Given the description of an element on the screen output the (x, y) to click on. 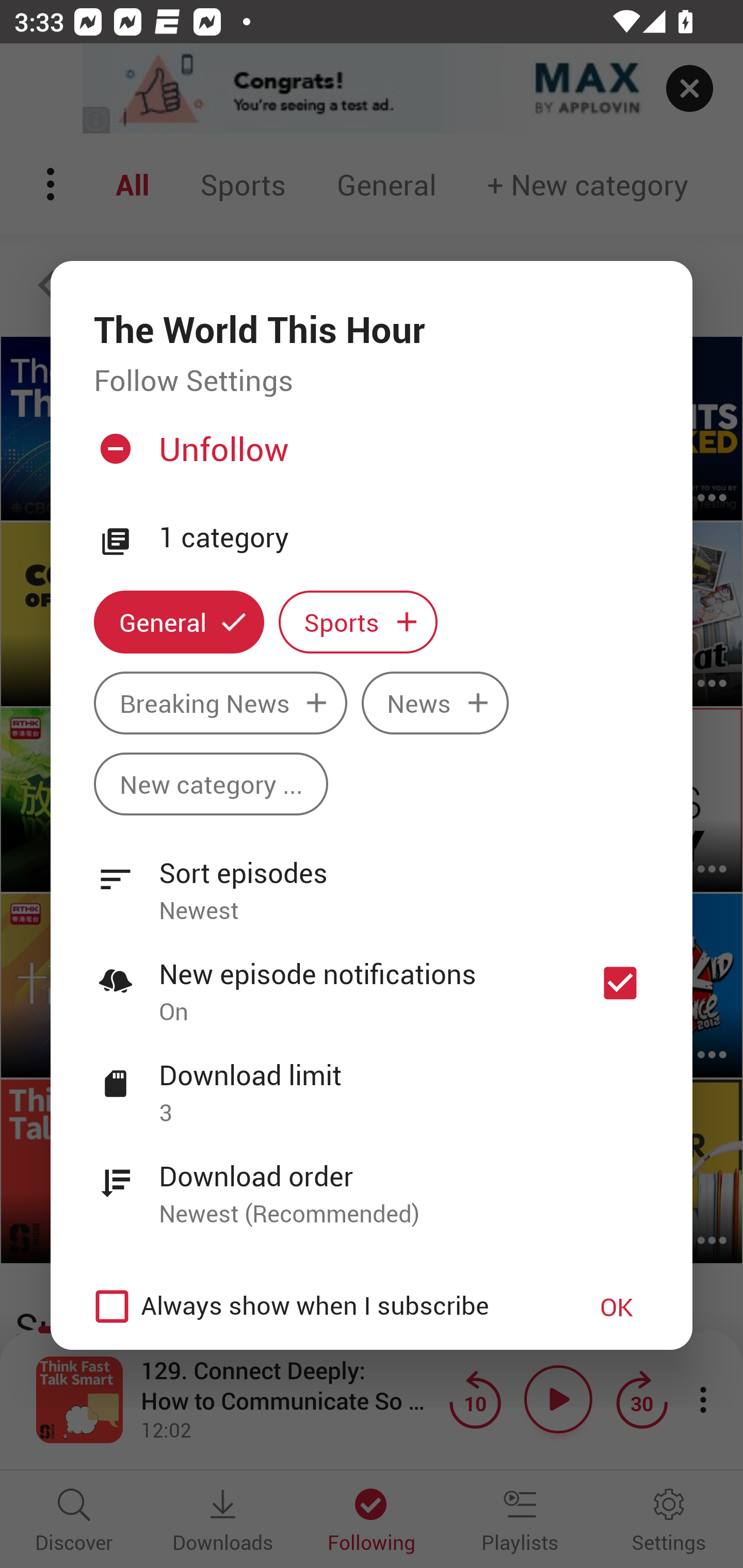
Unfollow (369, 456)
1 category (404, 537)
General (178, 622)
Sports (357, 622)
Breaking News (219, 702)
News (434, 702)
New category ... (210, 783)
Sort episodes Newest (371, 880)
New episode notifications (620, 982)
Download limit 3 (371, 1082)
Download order Newest (Recommended) (371, 1183)
OK (616, 1306)
Always show when I subscribe (320, 1306)
